Given the description of an element on the screen output the (x, y) to click on. 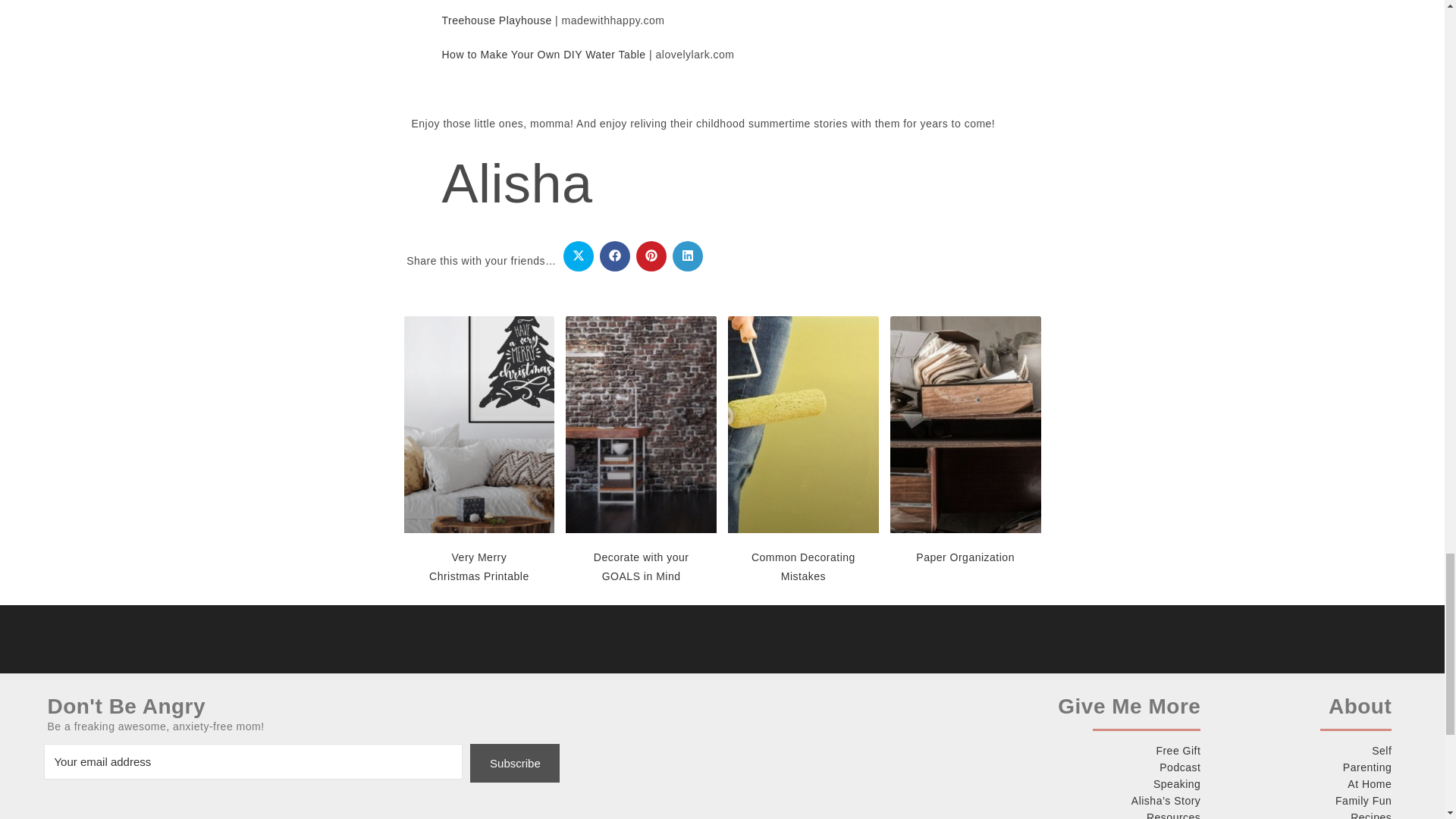
Share on X (578, 255)
Share on Facebook (614, 255)
Share on Pinterest (651, 255)
Share on LinkedIn (687, 255)
